Given the description of an element on the screen output the (x, y) to click on. 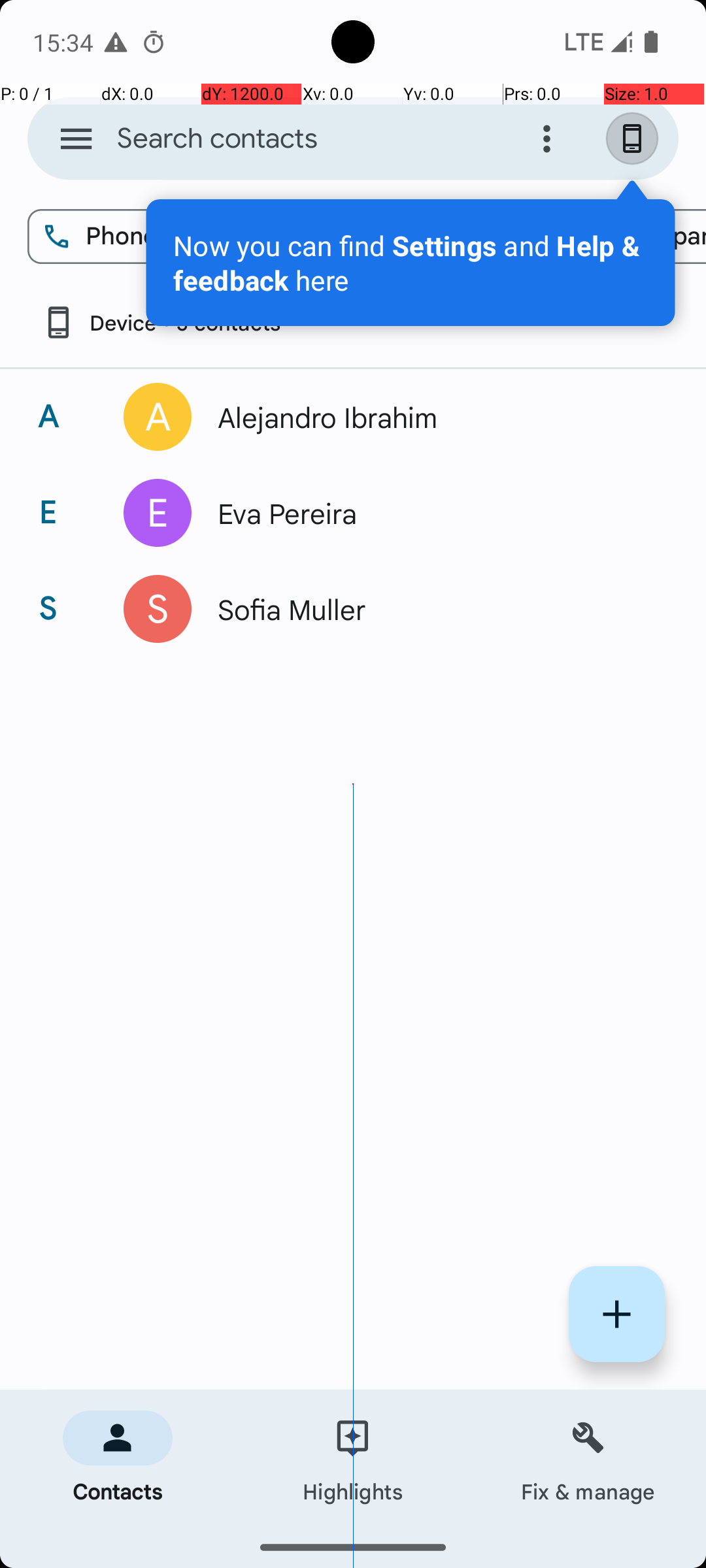
Device • 3 contacts Element type: android.widget.TextView (161, 322)
Alejandro Ibrahim Element type: android.widget.TextView (434, 416)
Eva Pereira Element type: android.widget.TextView (434, 512)
Sofia Muller Element type: android.widget.TextView (434, 608)
Now you can find Settings and Help & feedback here
Open account and settings. Element type: android.view.ViewGroup (409, 262)
Now you can find Settings and Help & feedback here Element type: android.widget.TextView (410, 262)
